Given the description of an element on the screen output the (x, y) to click on. 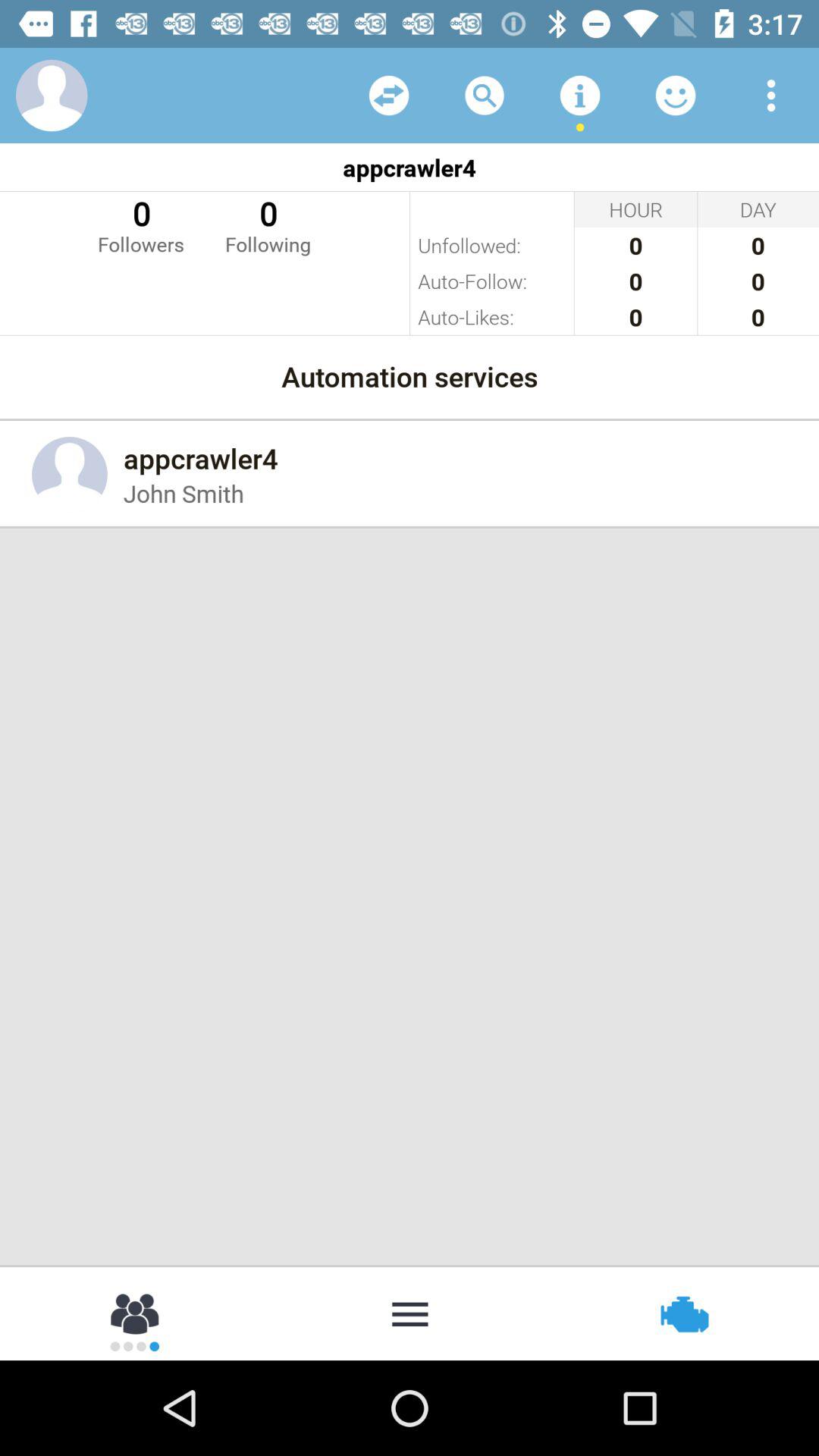
reload button (388, 95)
